Given the description of an element on the screen output the (x, y) to click on. 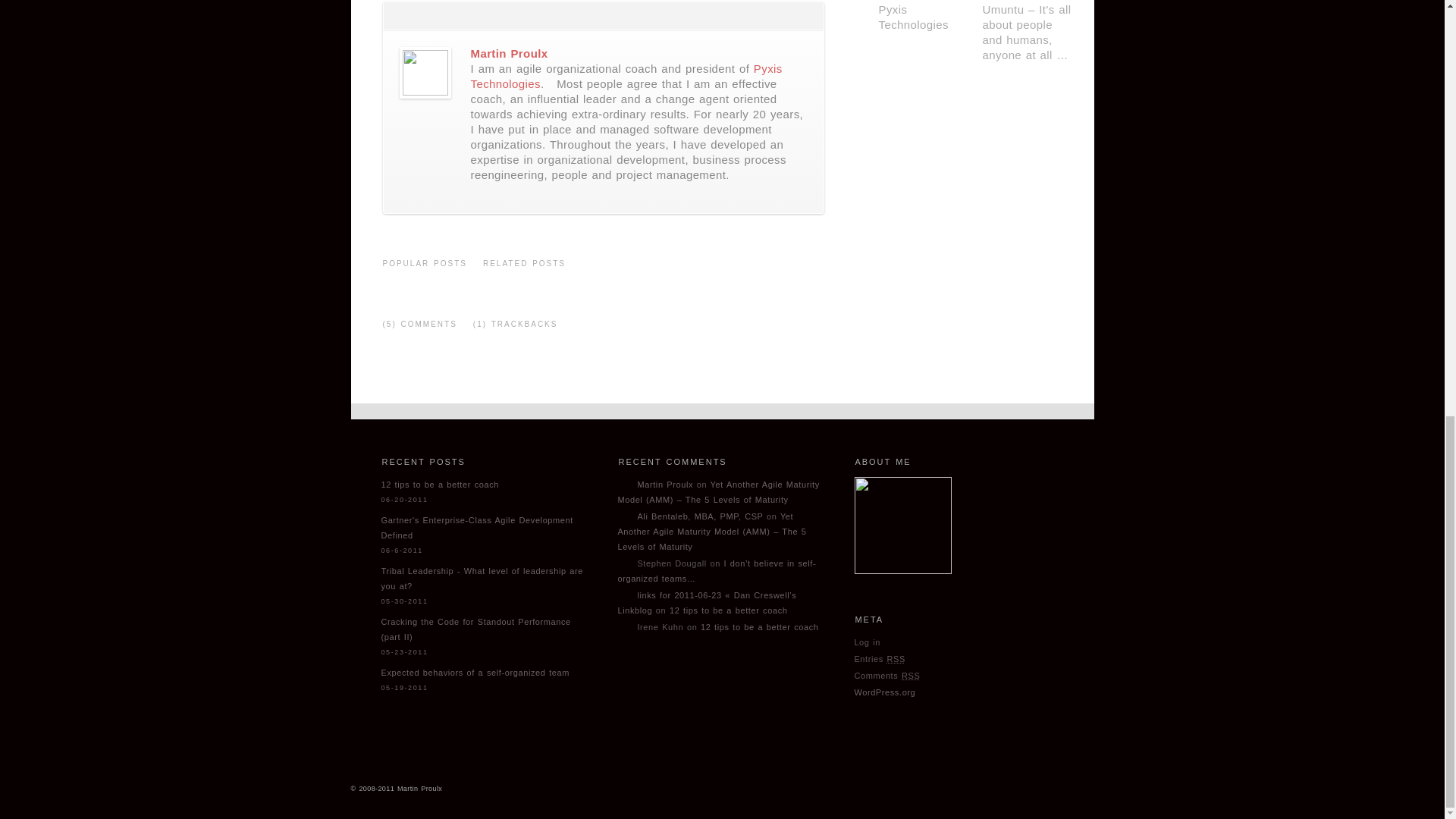
POPULAR POSTS (424, 269)
Pyxis Technologies (625, 76)
Martin Proulx (508, 52)
Pyxis Technologies (625, 76)
RELATED POSTS (523, 269)
